Given the description of an element on the screen output the (x, y) to click on. 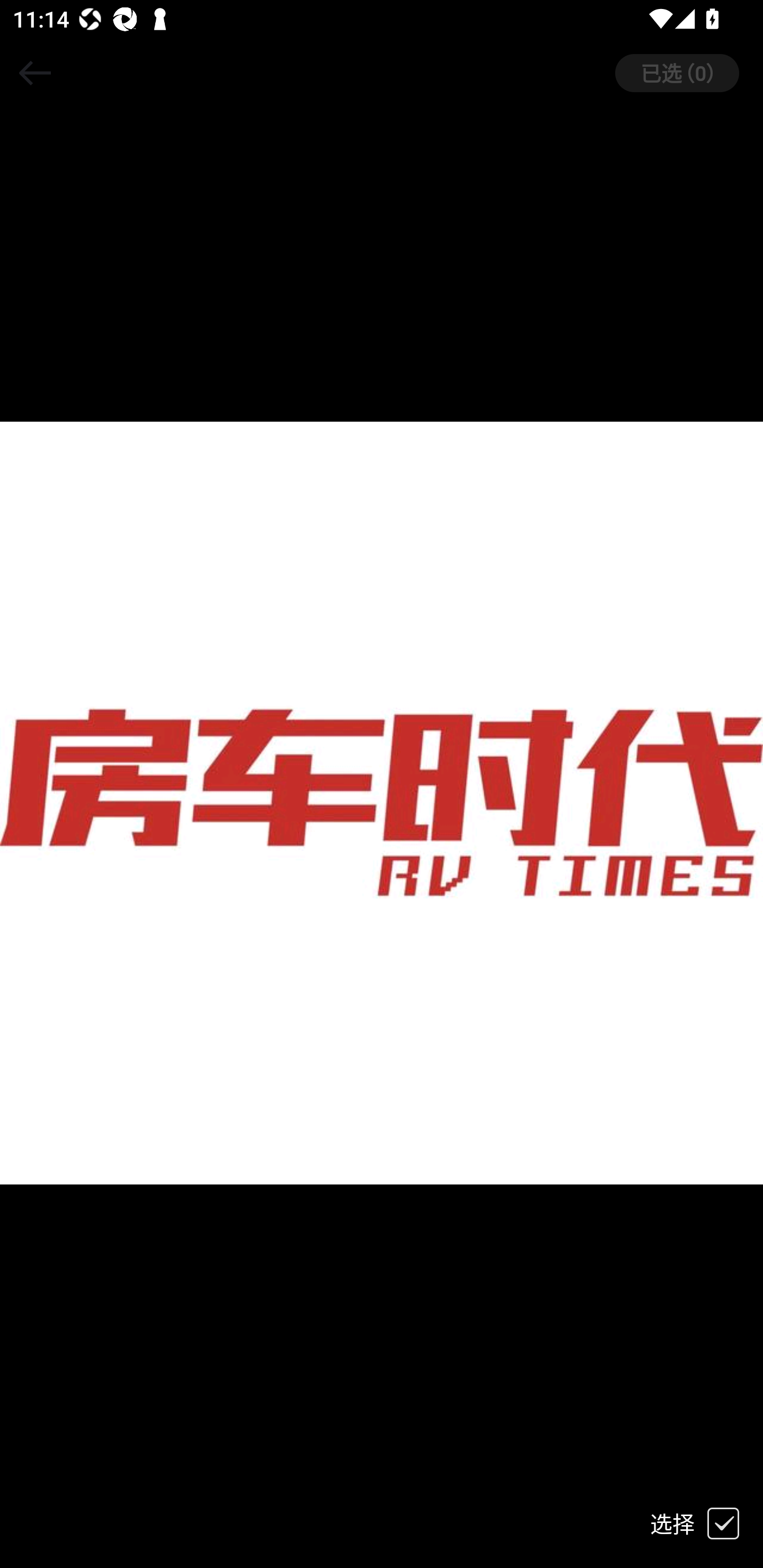
 (35, 72)
已选 （0） (688, 72)
选择 (706, 1523)
